Given the description of an element on the screen output the (x, y) to click on. 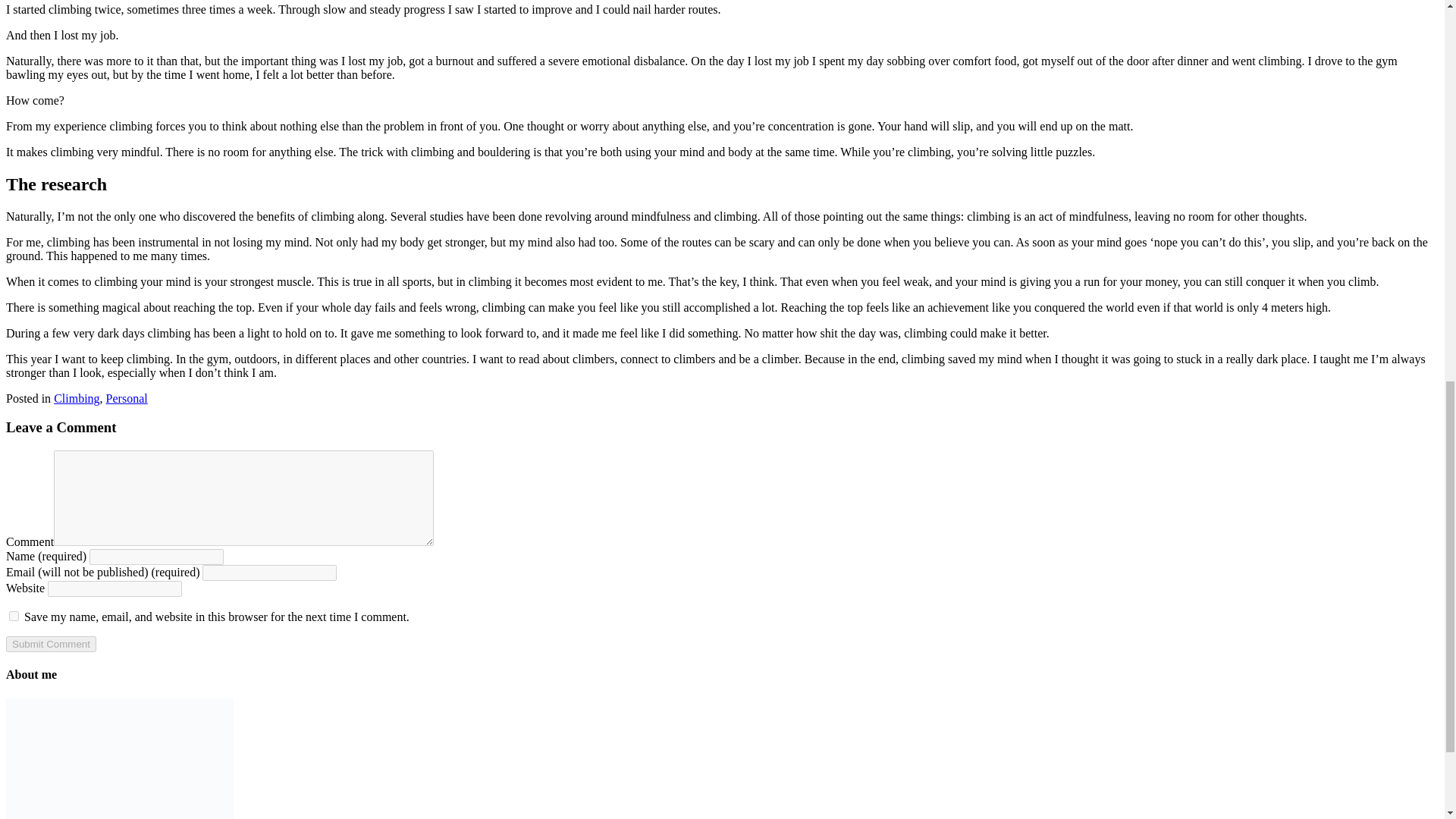
Climbing (76, 398)
Submit Comment (50, 643)
yes (13, 615)
Submit Comment (50, 643)
Personal (127, 398)
About me (118, 758)
